Given the description of an element on the screen output the (x, y) to click on. 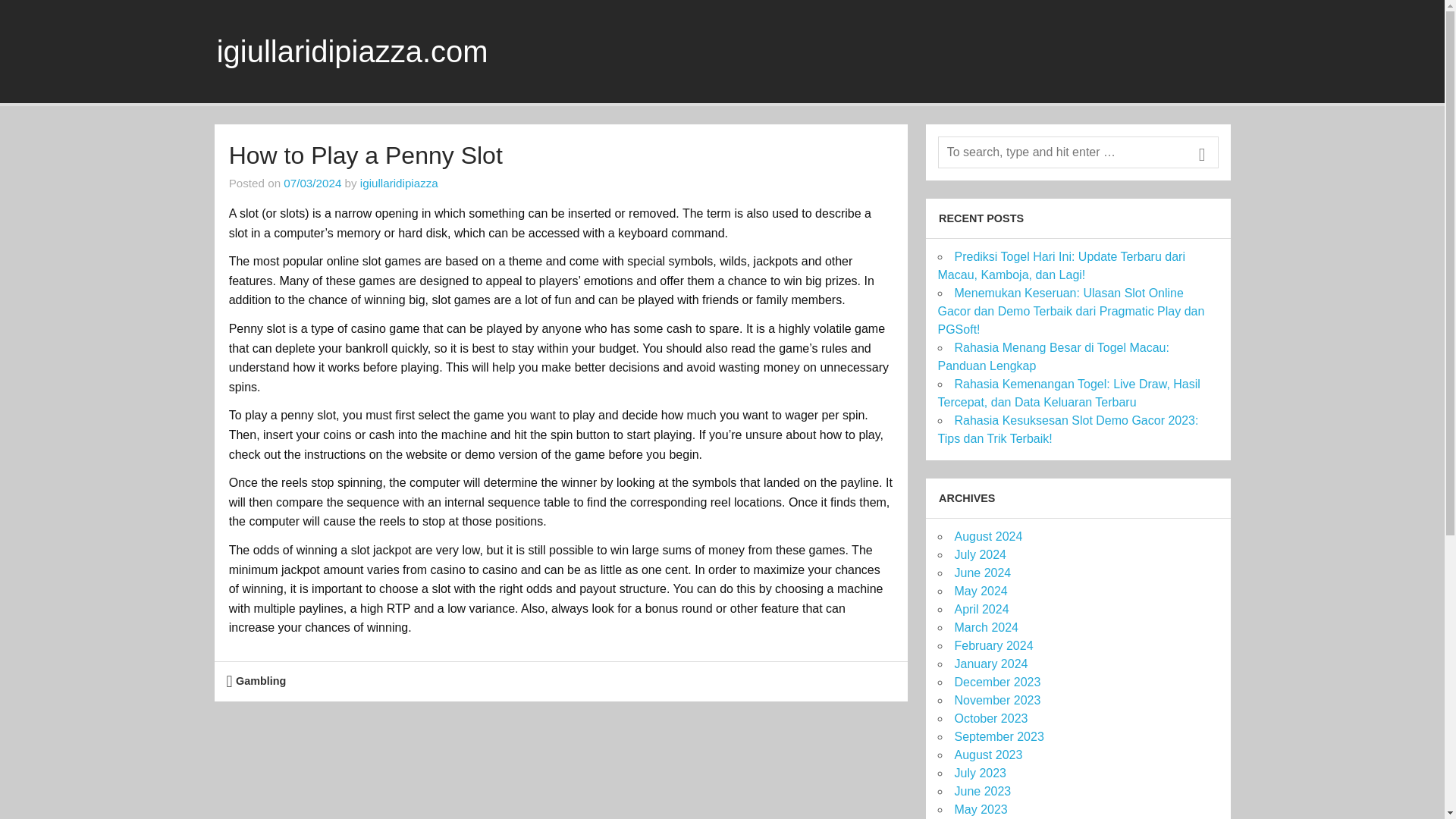
igiullaridipiazza (398, 182)
March 2024 (985, 626)
December 2023 (997, 681)
July 2023 (979, 772)
April 2024 (981, 608)
October 2023 (990, 717)
igiullaridipiazza.com (351, 51)
February 2024 (992, 645)
July 2024 (979, 554)
